Given the description of an element on the screen output the (x, y) to click on. 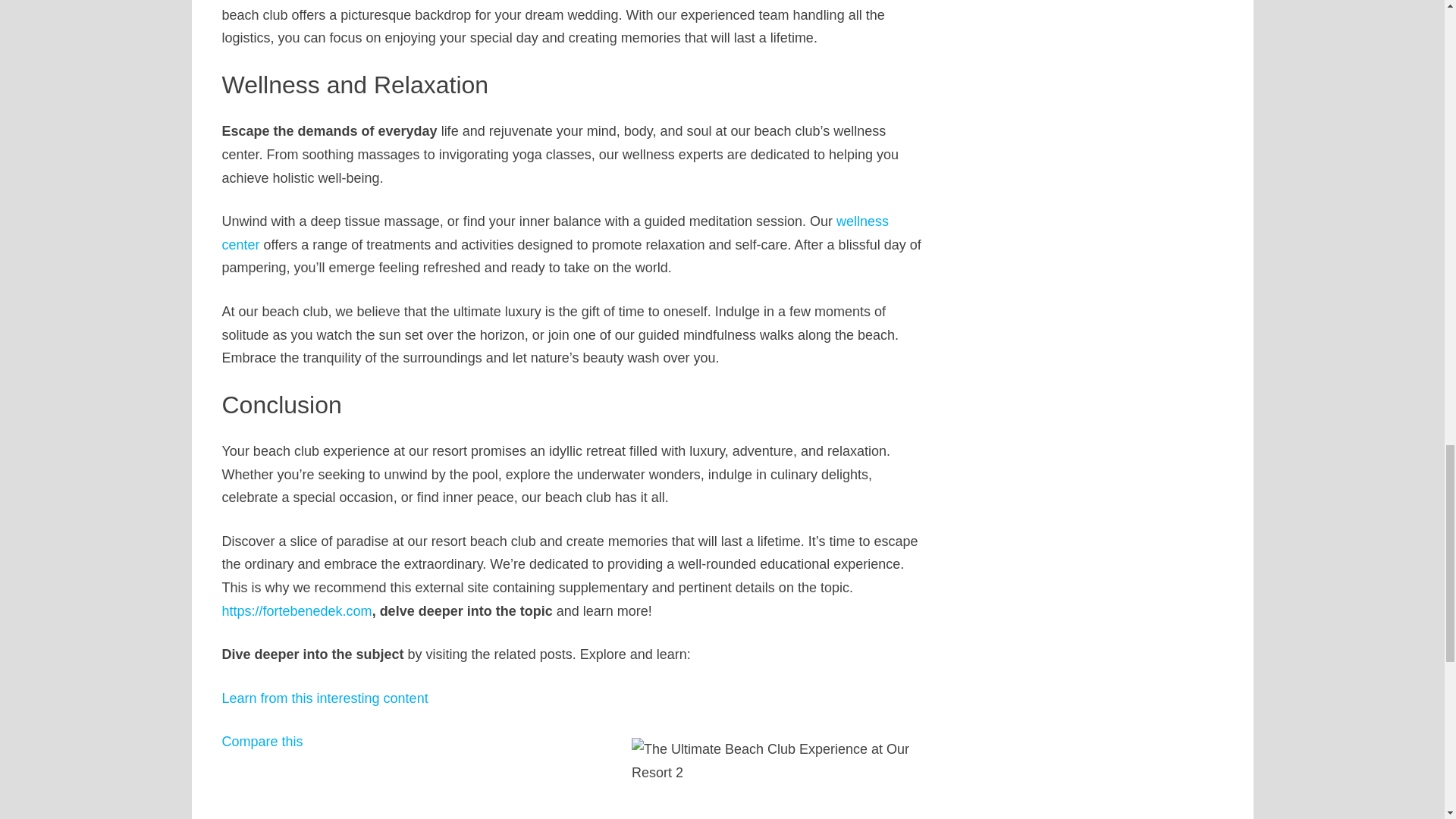
Compare this (261, 741)
wellness center (554, 232)
Learn from this interesting content (324, 698)
